Given the description of an element on the screen output the (x, y) to click on. 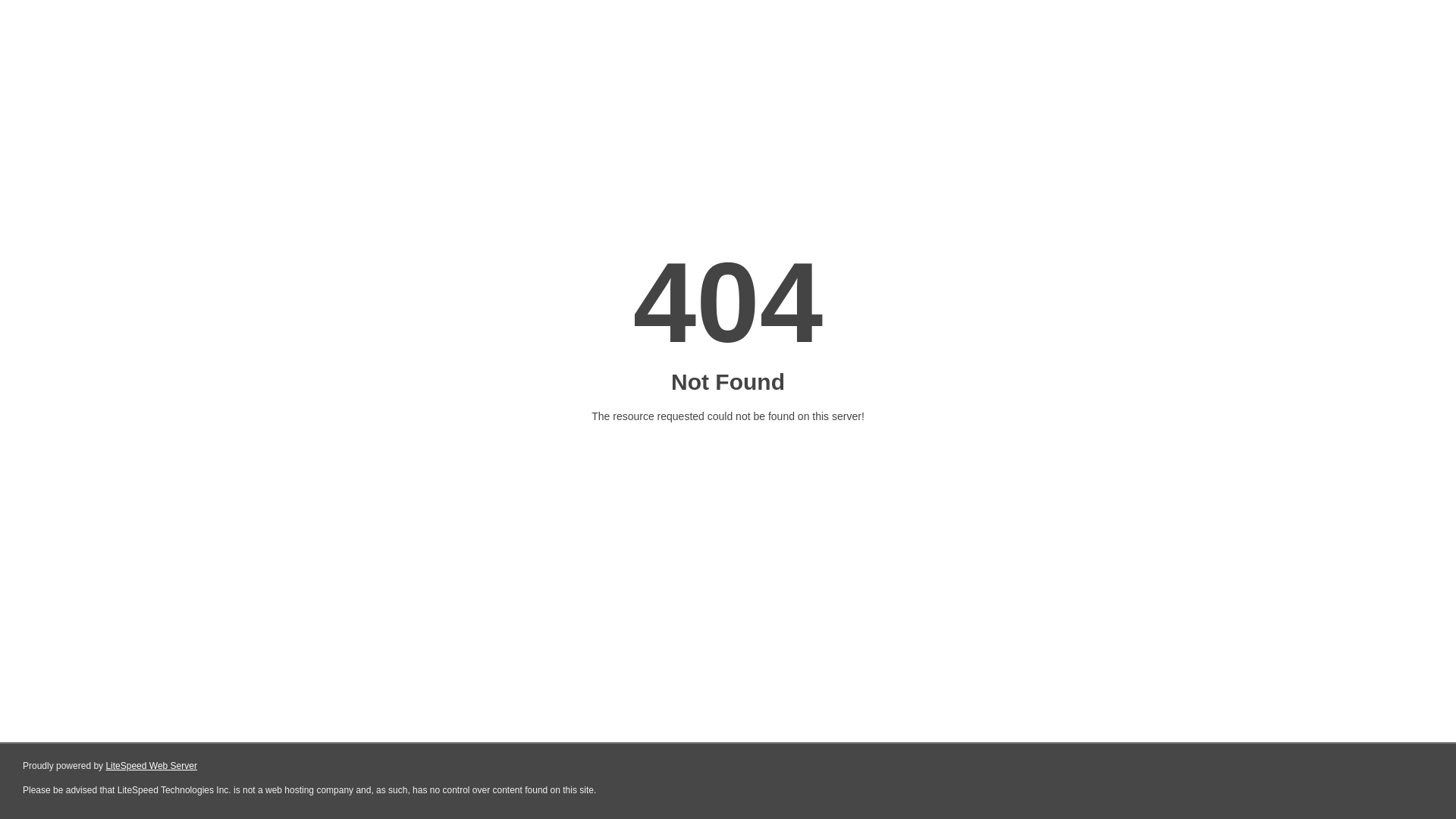
LiteSpeed Web Server Element type: text (151, 765)
